Given the description of an element on the screen output the (x, y) to click on. 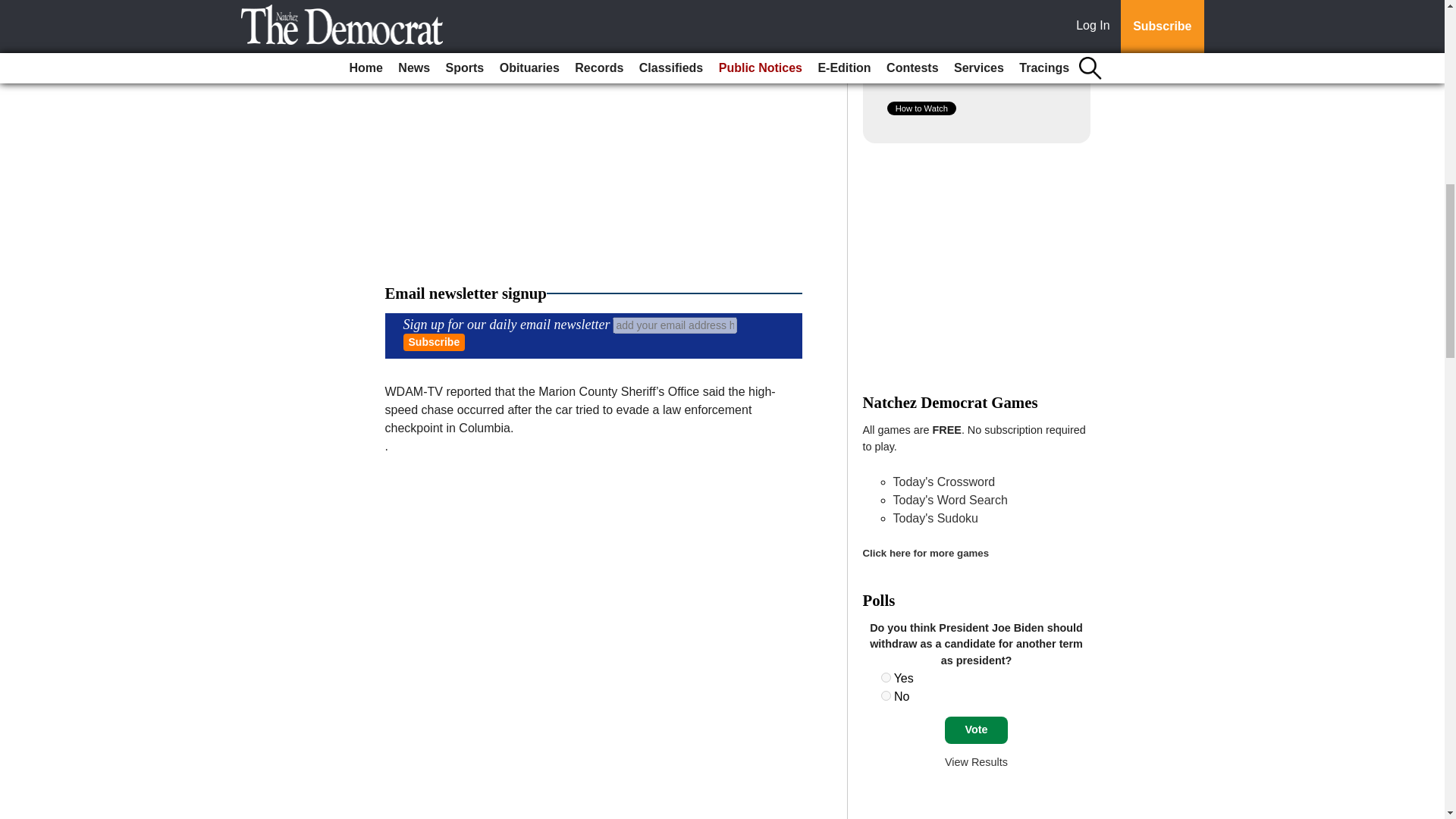
View Results Of This Poll (975, 761)
   Vote    (975, 729)
22423 (885, 677)
22424 (885, 696)
Subscribe (434, 342)
Subscribe (434, 342)
